Given the description of an element on the screen output the (x, y) to click on. 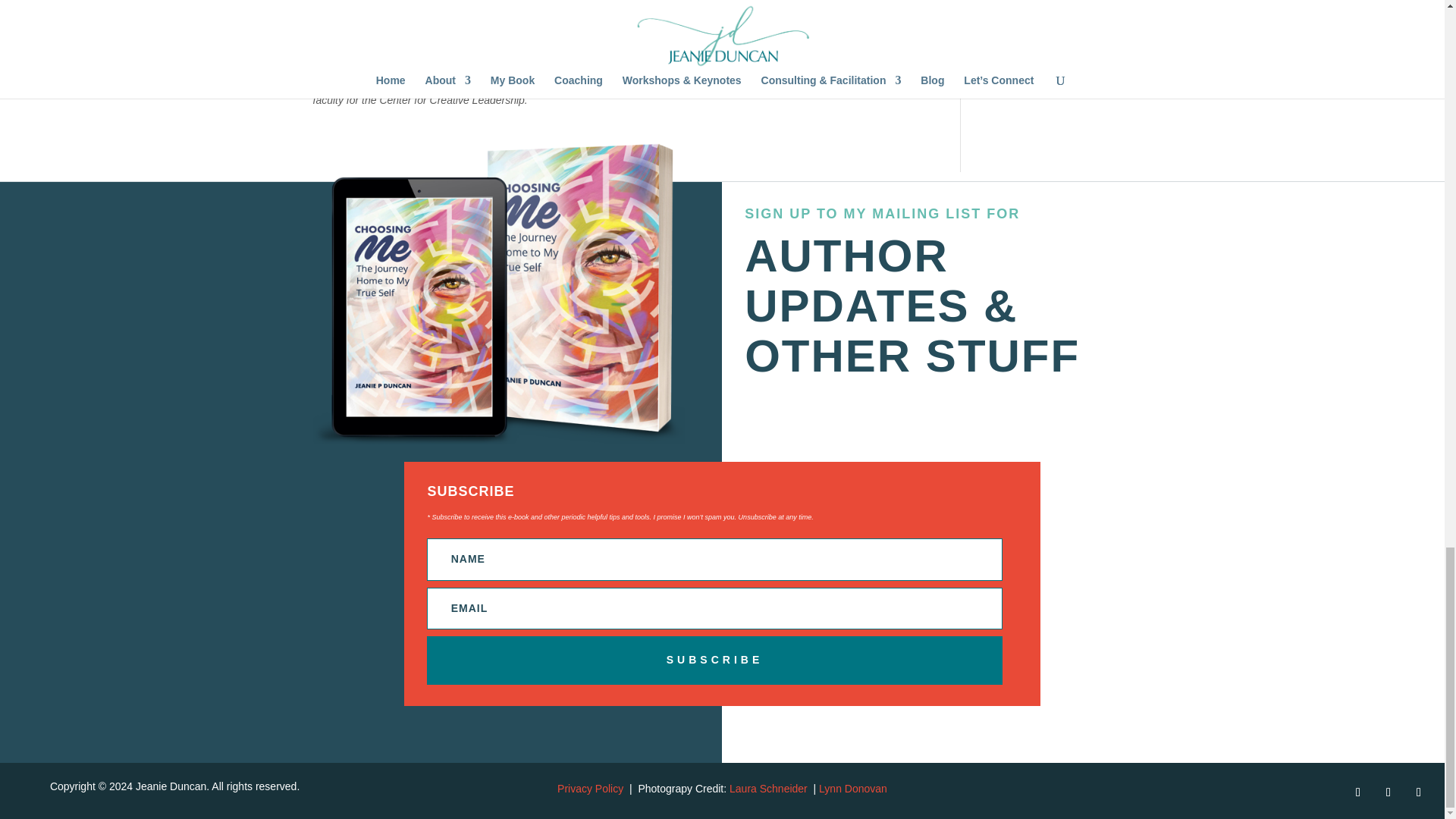
Follow on Facebook (1418, 792)
SUBSCRIBE (713, 660)
Lynn Donovan (852, 788)
Follow on LinkedIn (1357, 792)
Follow on Instagram (1387, 792)
BookCover-and-Digital (498, 293)
Laura Schneider (768, 788)
Privacy Policy (590, 788)
